Given the description of an element on the screen output the (x, y) to click on. 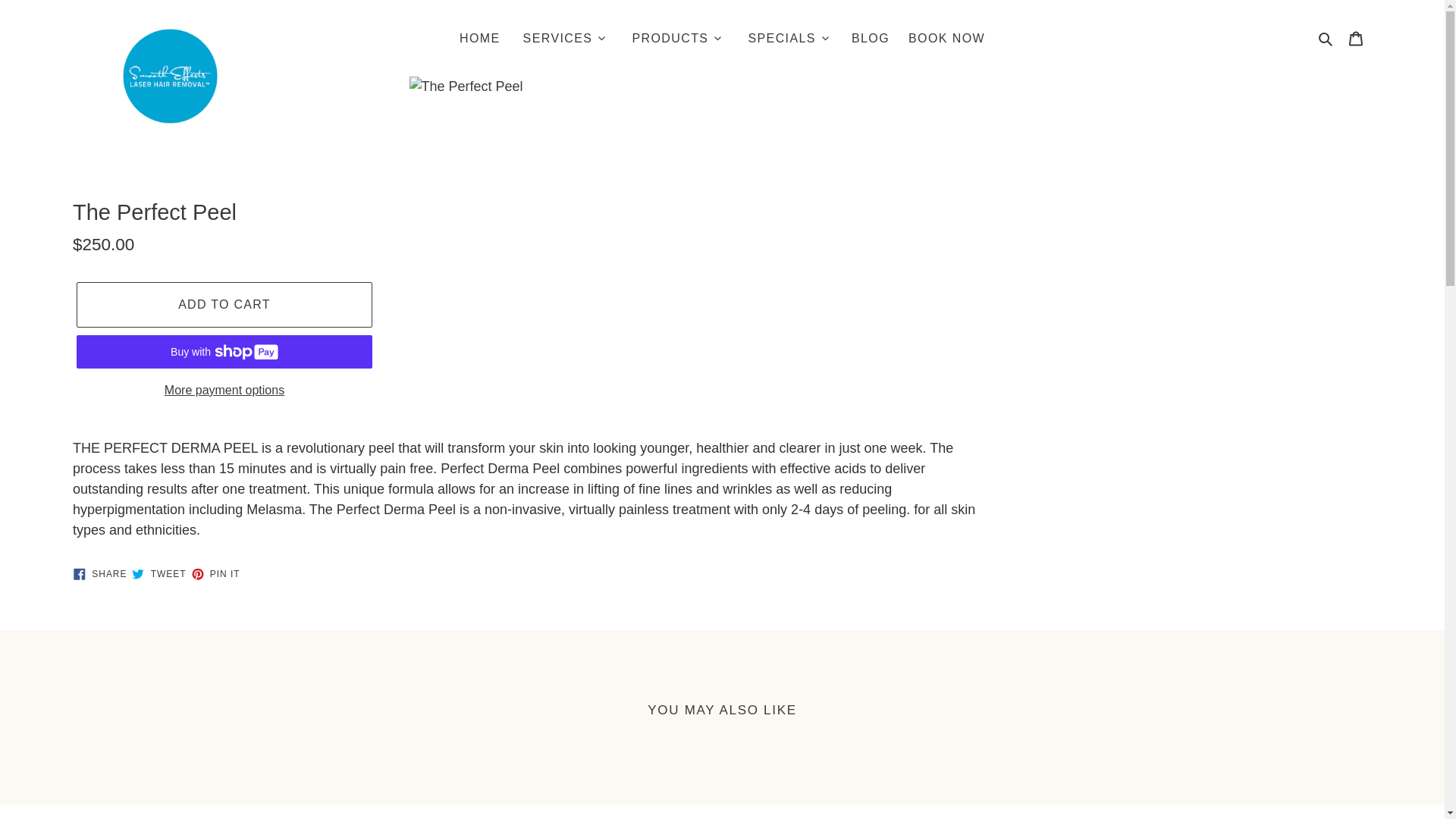
Cart (1355, 37)
SPECIALS (788, 37)
PRODUCTS (676, 37)
HOME (479, 37)
BLOG (870, 37)
SERVICES (564, 37)
BOOK NOW (946, 37)
Search (1326, 38)
